Given the description of an element on the screen output the (x, y) to click on. 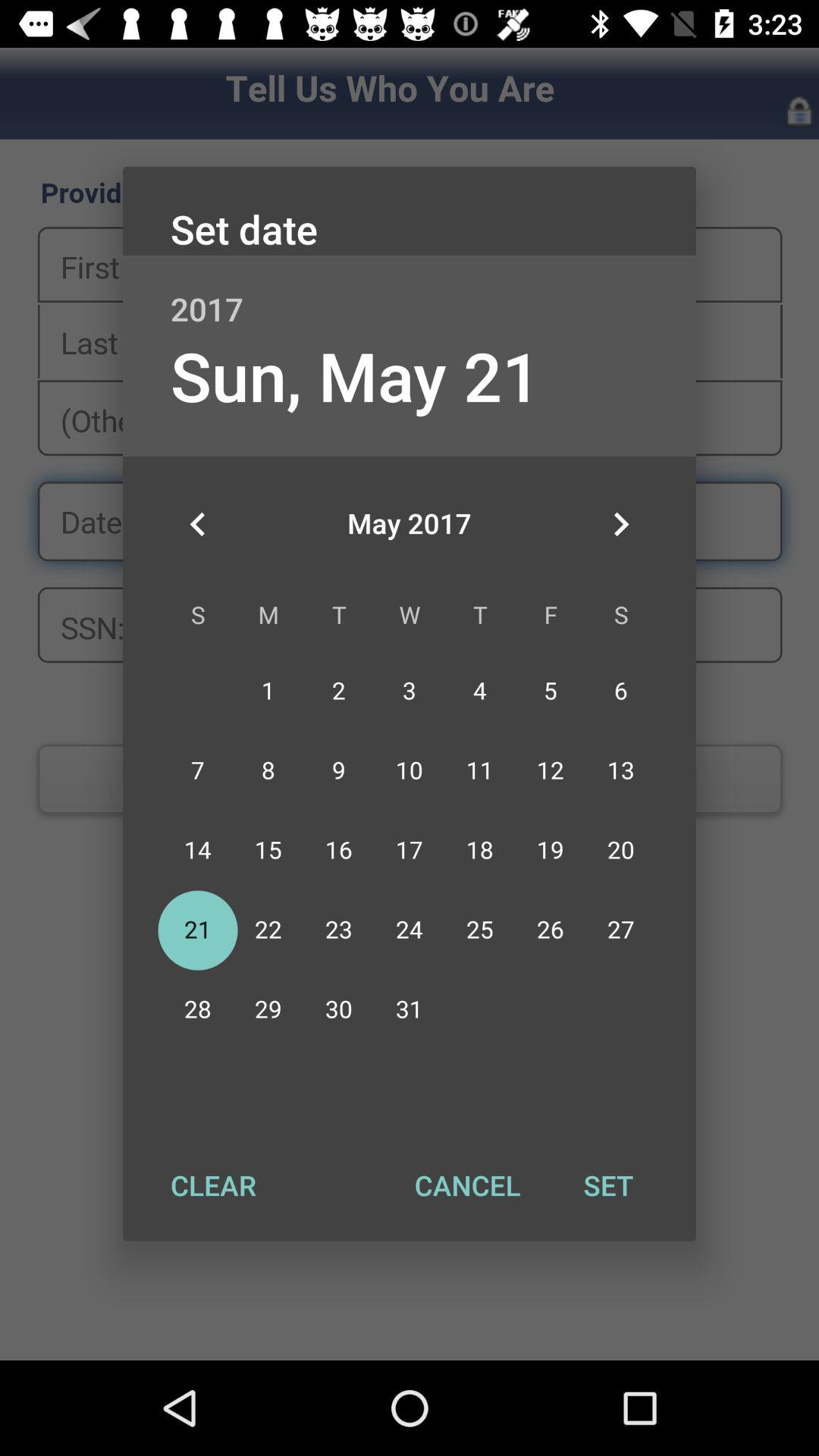
click item next to the set (467, 1185)
